Given the description of an element on the screen output the (x, y) to click on. 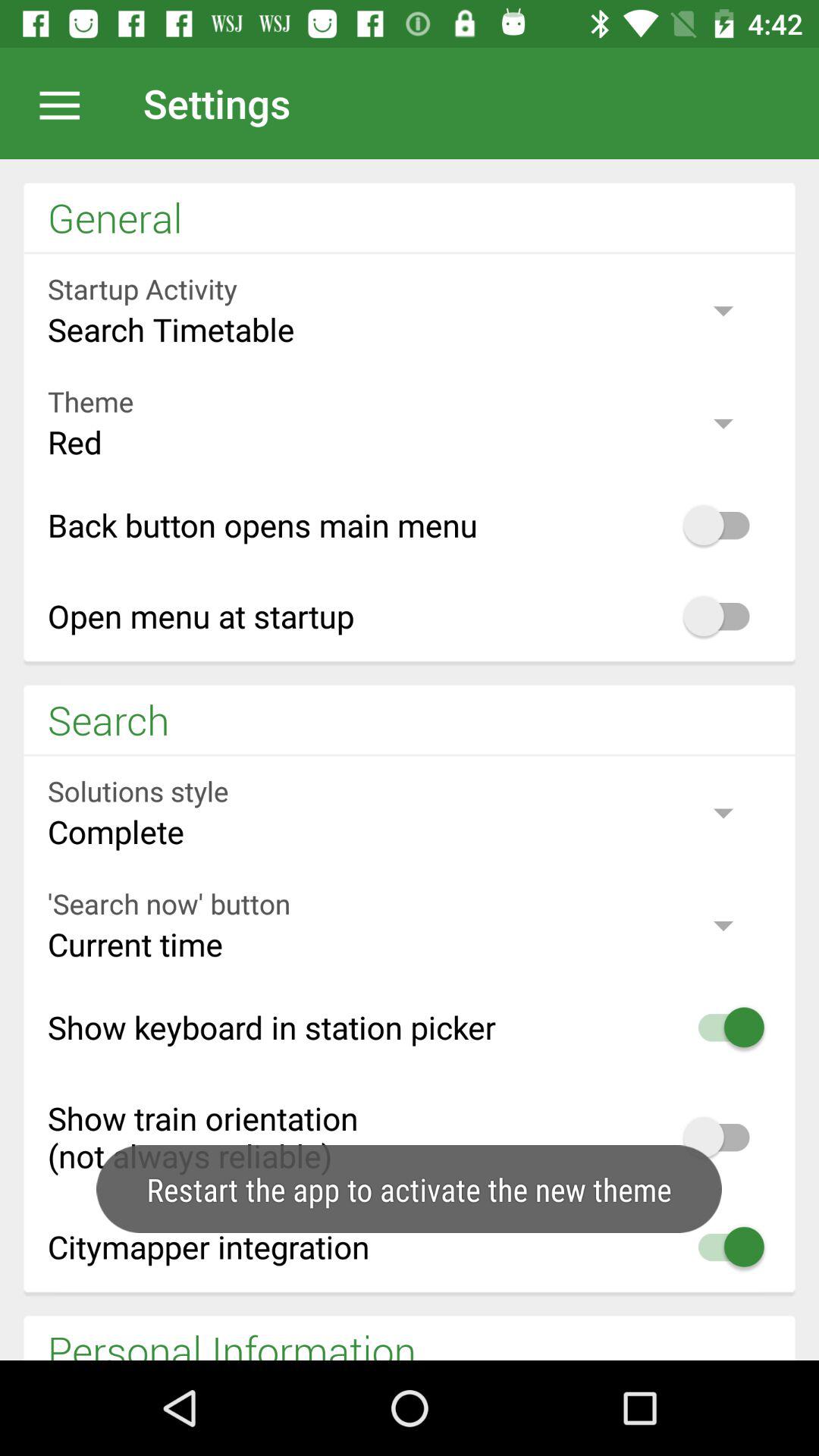
menu icon (67, 103)
